Given the description of an element on the screen output the (x, y) to click on. 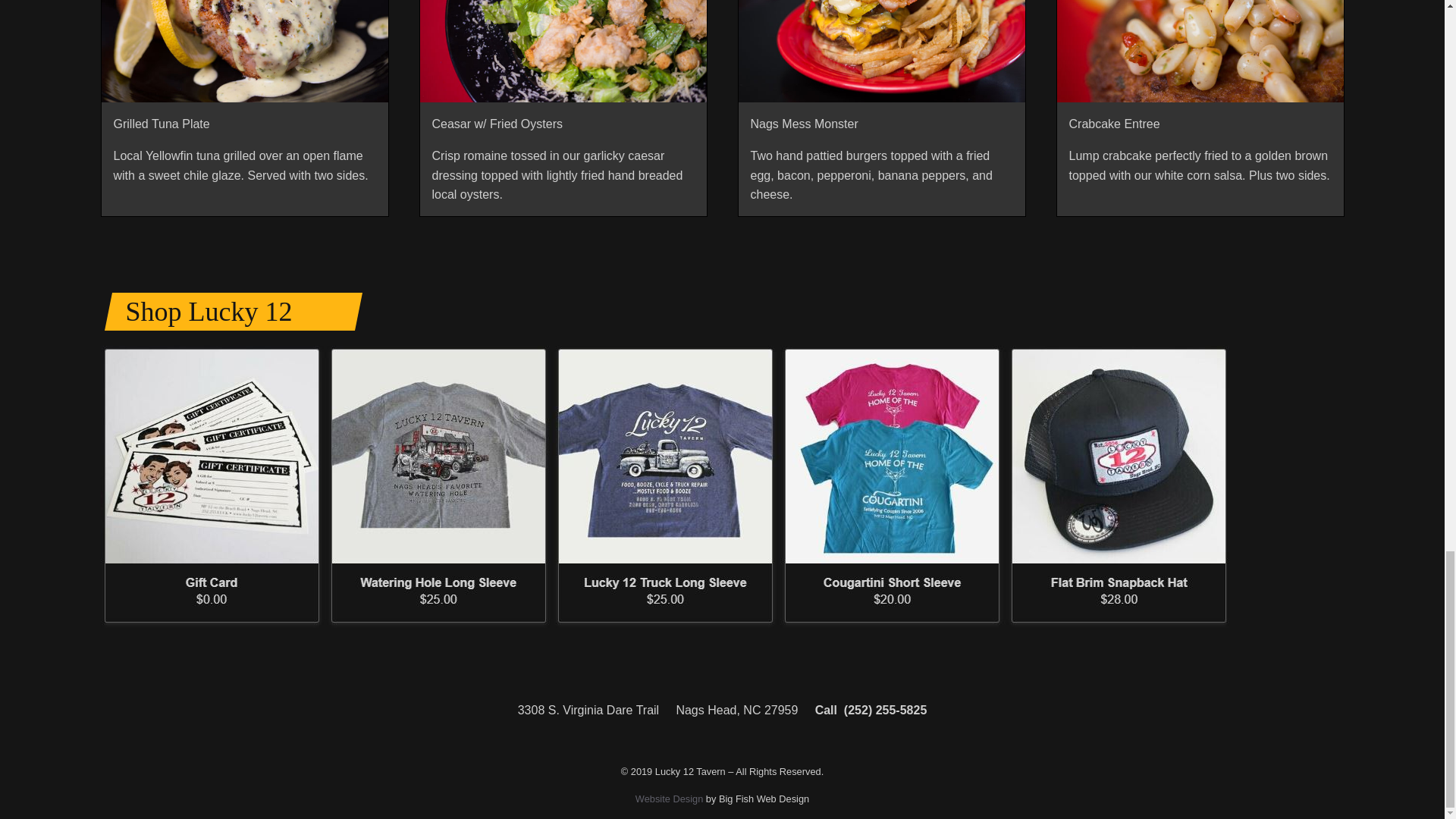
Website Design (668, 798)
